Given the description of an element on the screen output the (x, y) to click on. 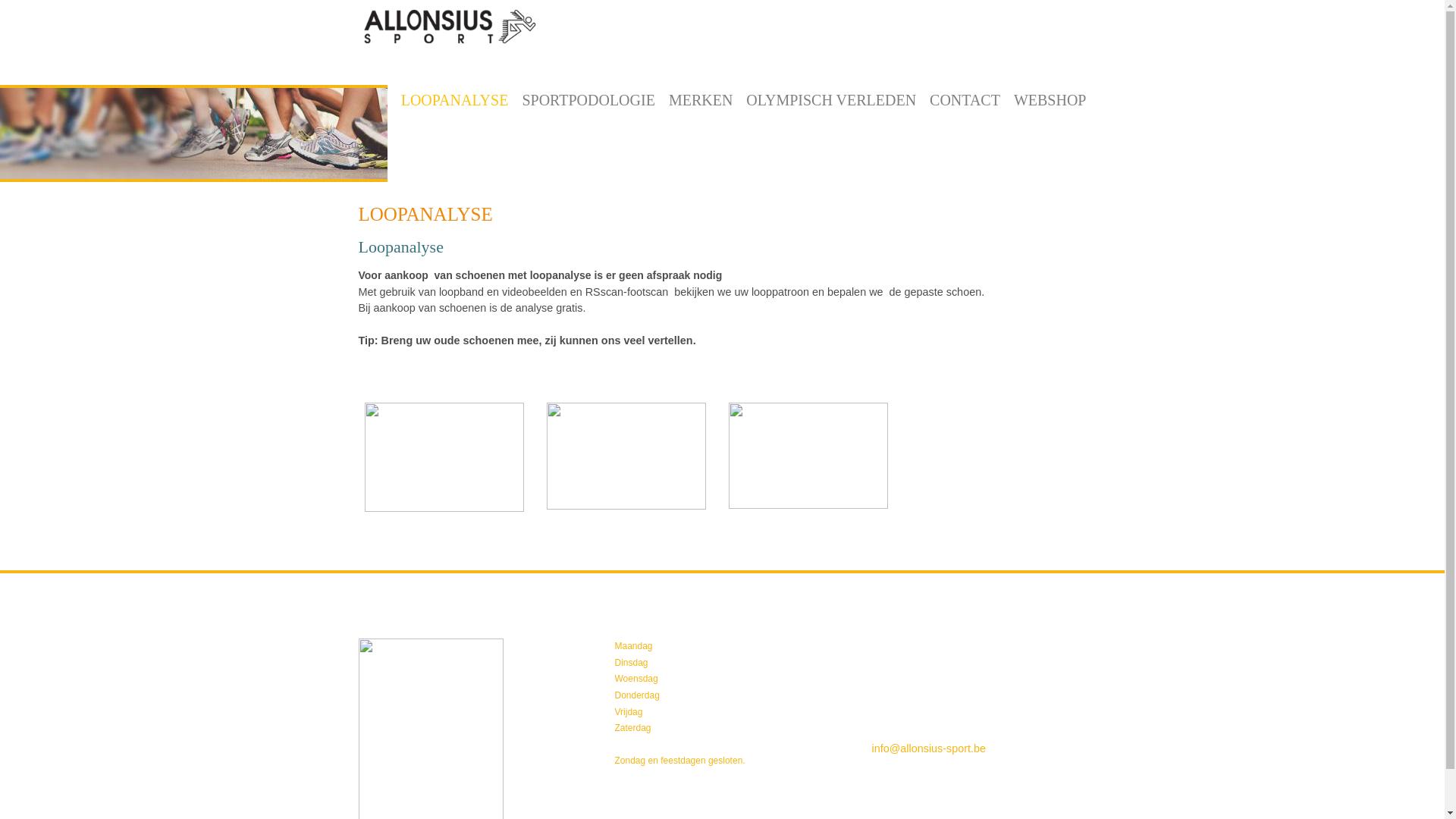
MERKEN Element type: text (700, 99)
LOOPANALYSE Element type: text (454, 99)
OLYMPISCH VERLEDEN Element type: text (831, 99)
Skip to main content Element type: text (54, 0)
WEBSHOP Element type: text (1049, 99)
info@allonsius-sport.be Element type: text (929, 748)
CONTACT Element type: text (964, 99)
Home Element type: hover (448, 29)
SPORTPODOLOGIE Element type: text (587, 99)
